Given the description of an element on the screen output the (x, y) to click on. 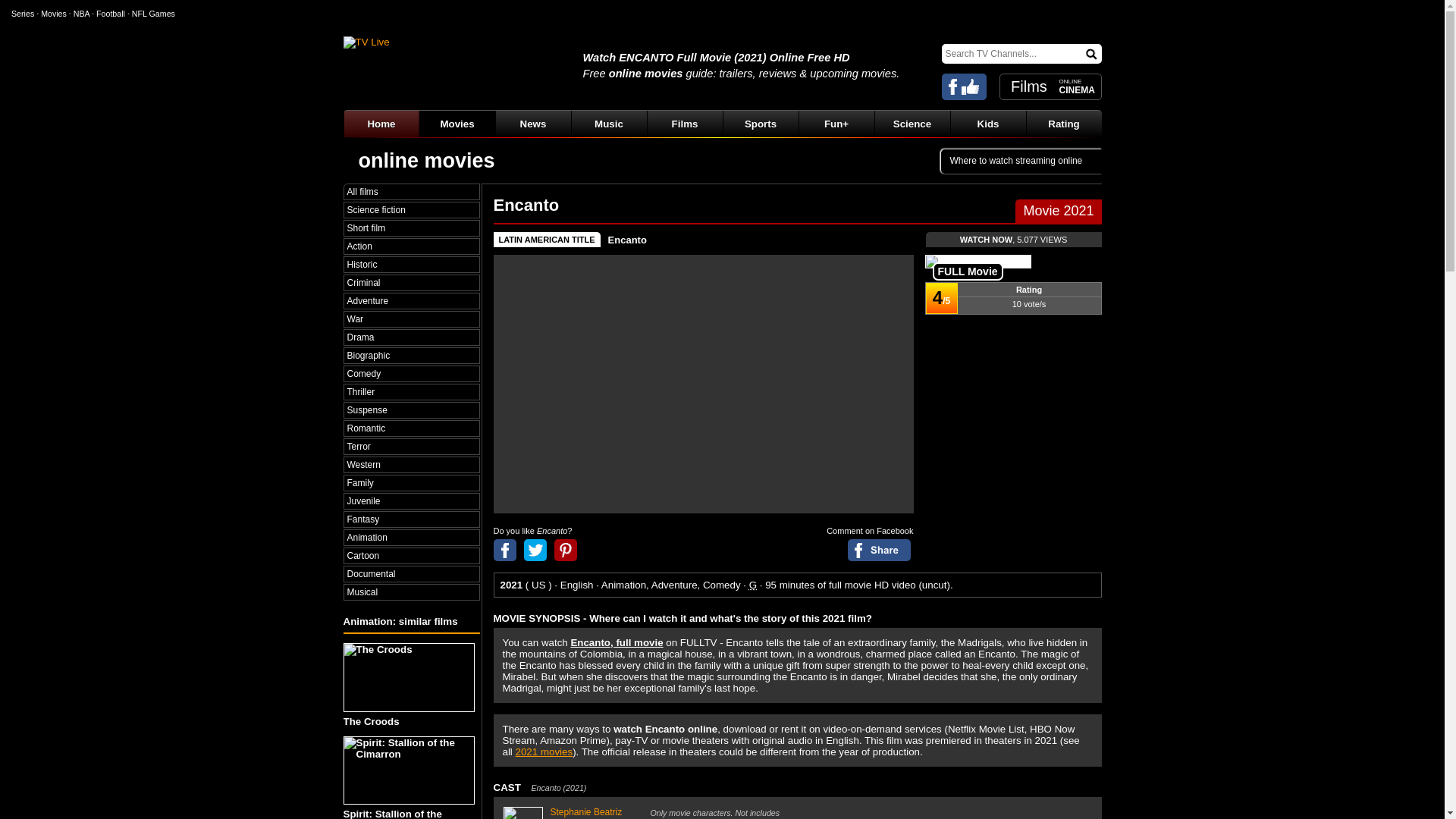
Science (911, 123)
The Croods, movie (408, 676)
online movies (426, 160)
All free movies (411, 191)
Cartoon (411, 555)
Rating (1062, 123)
News (532, 123)
Thriller (411, 391)
Spirit: Stallion of the Cimarron (410, 777)
Science and documentaries (911, 123)
Search (1091, 53)
Education channels (987, 123)
All films (411, 191)
Terror (411, 446)
Films (684, 123)
